Given the description of an element on the screen output the (x, y) to click on. 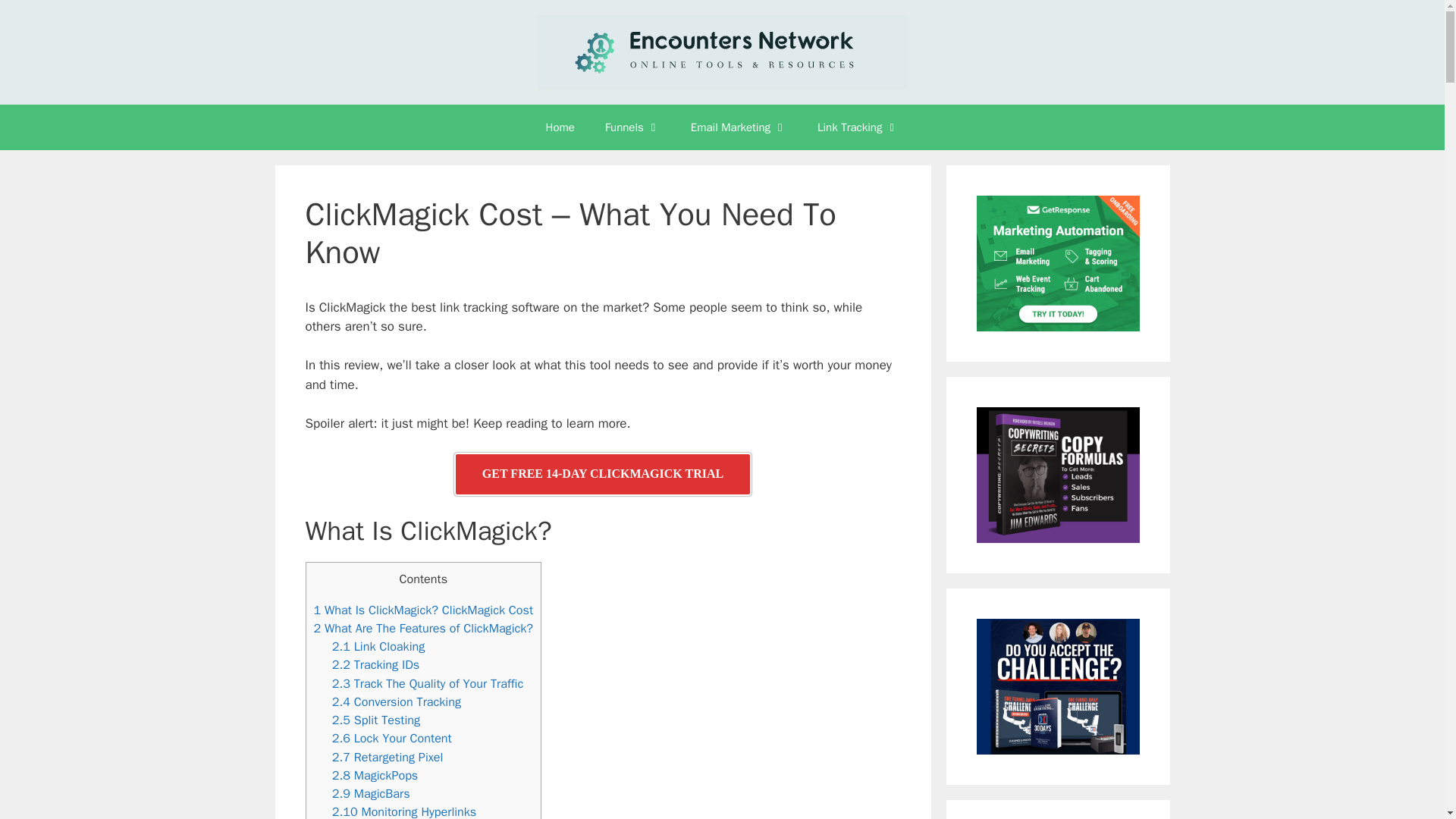
Funnels (632, 126)
1 What Is ClickMagick? ClickMagick Cost (424, 609)
Email Marketing (738, 126)
Link Tracking (858, 126)
GET FREE 14-DAY CLICKMAGICK TRIAL (602, 474)
Home (560, 126)
